Given the description of an element on the screen output the (x, y) to click on. 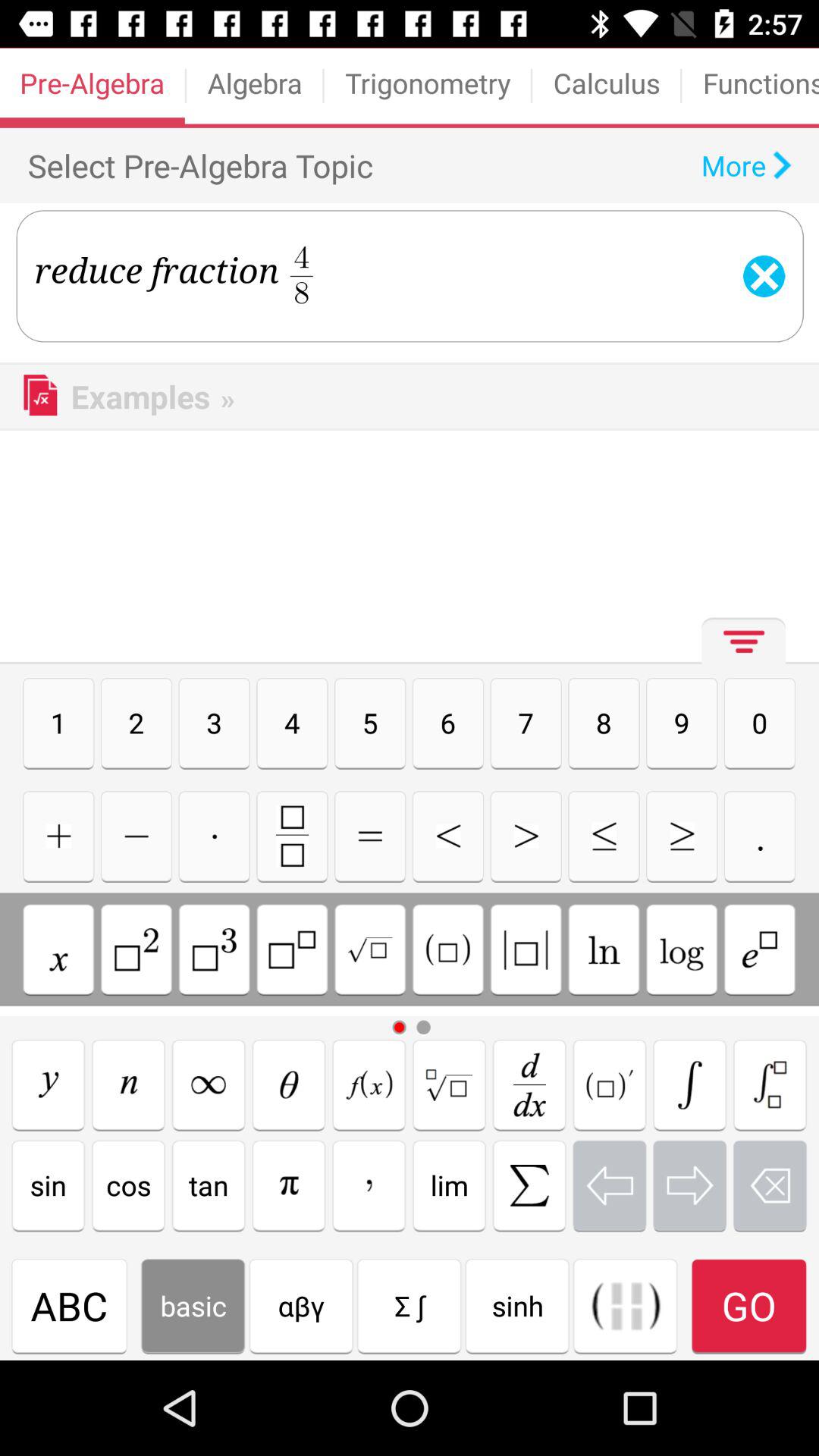
divided by (370, 949)
